Given the description of an element on the screen output the (x, y) to click on. 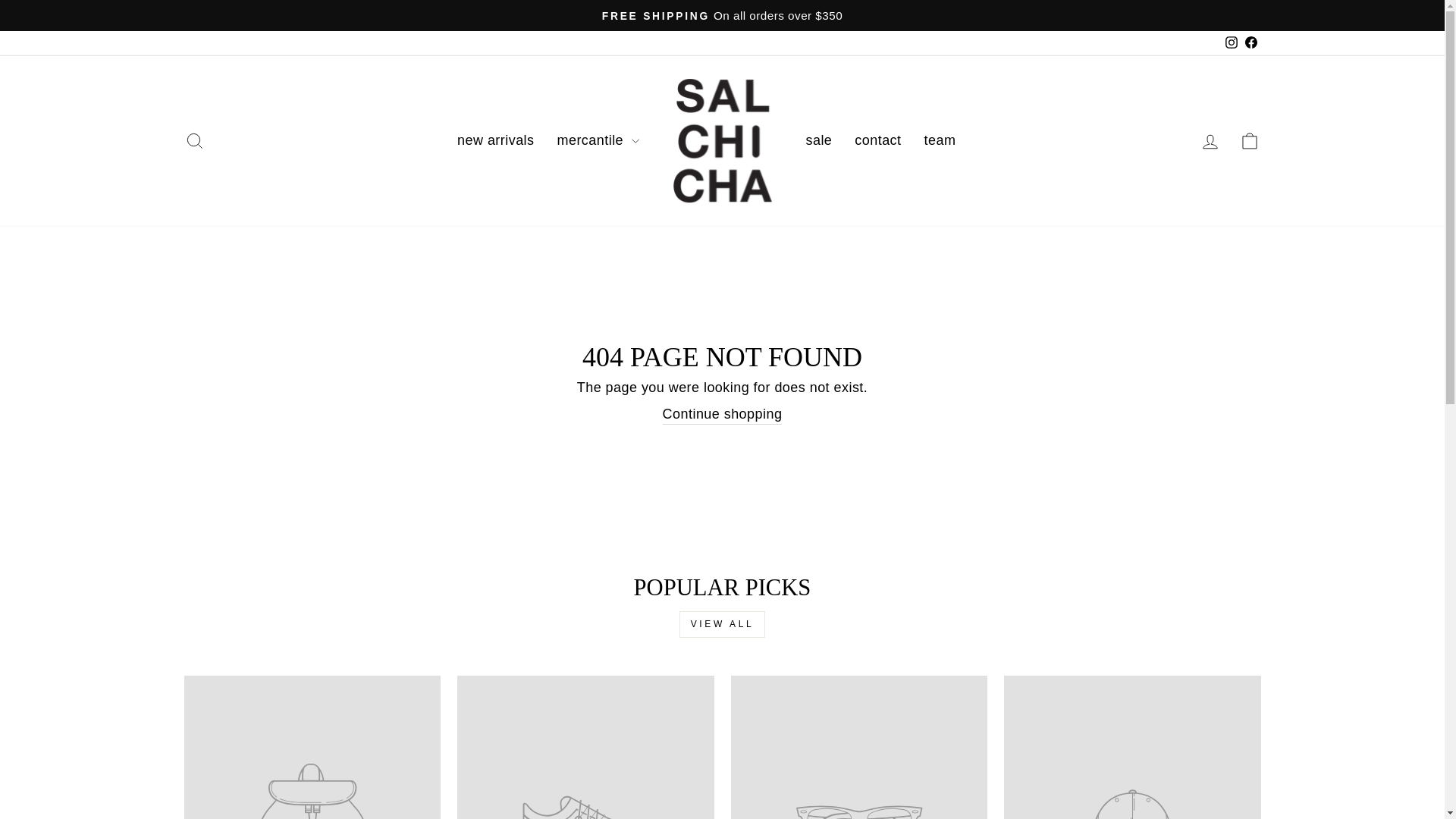
icon-search (194, 140)
instagram (1231, 42)
account (1210, 141)
icon-bag-minimal (1249, 140)
